Given the description of an element on the screen output the (x, y) to click on. 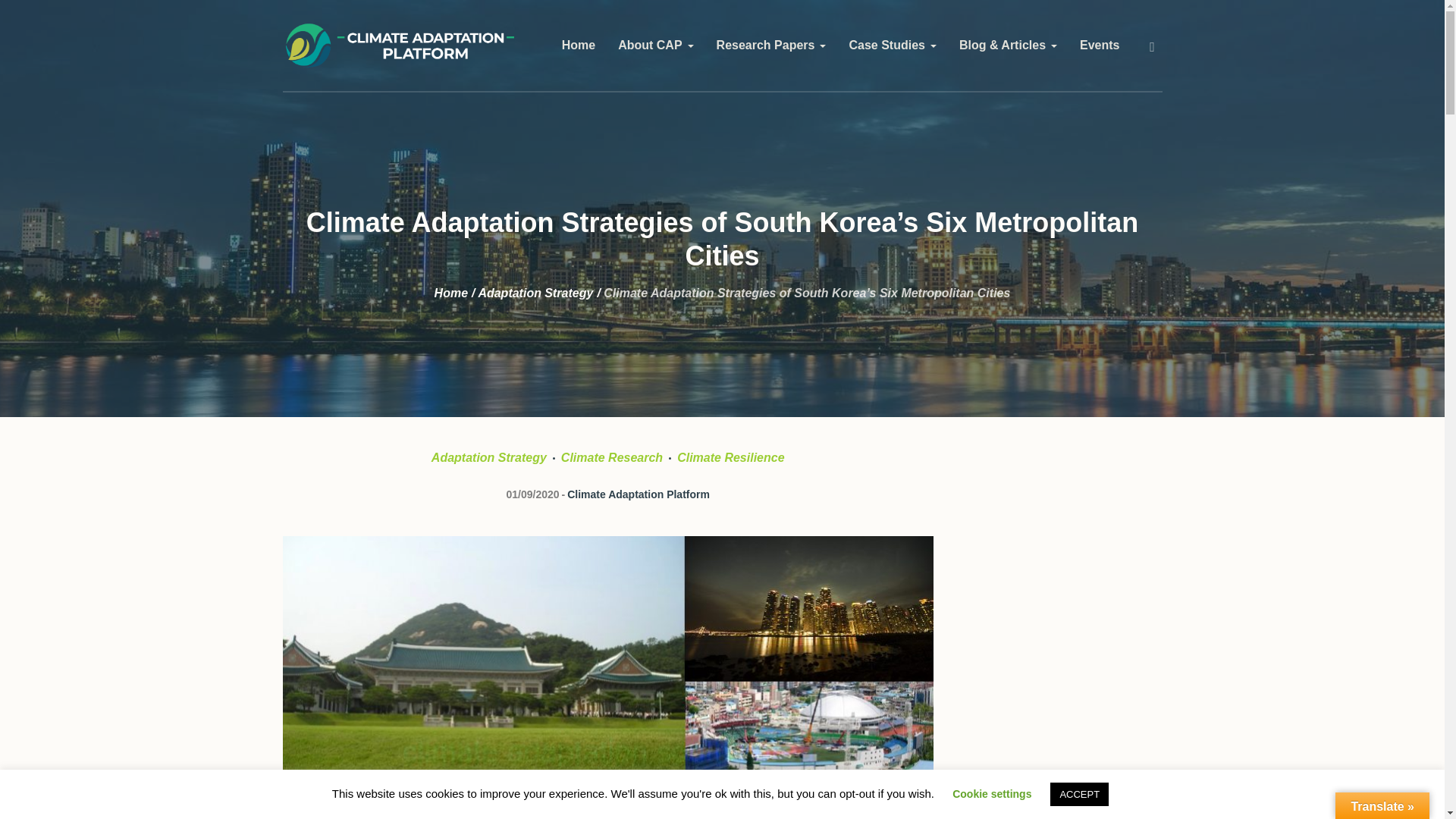
About CAP (655, 45)
Research Papers (771, 45)
Posts by Climate Adaptation Platform (638, 494)
Home (578, 45)
About Climate Adaptation Platform (655, 45)
Case Studies (892, 45)
